Given the description of an element on the screen output the (x, y) to click on. 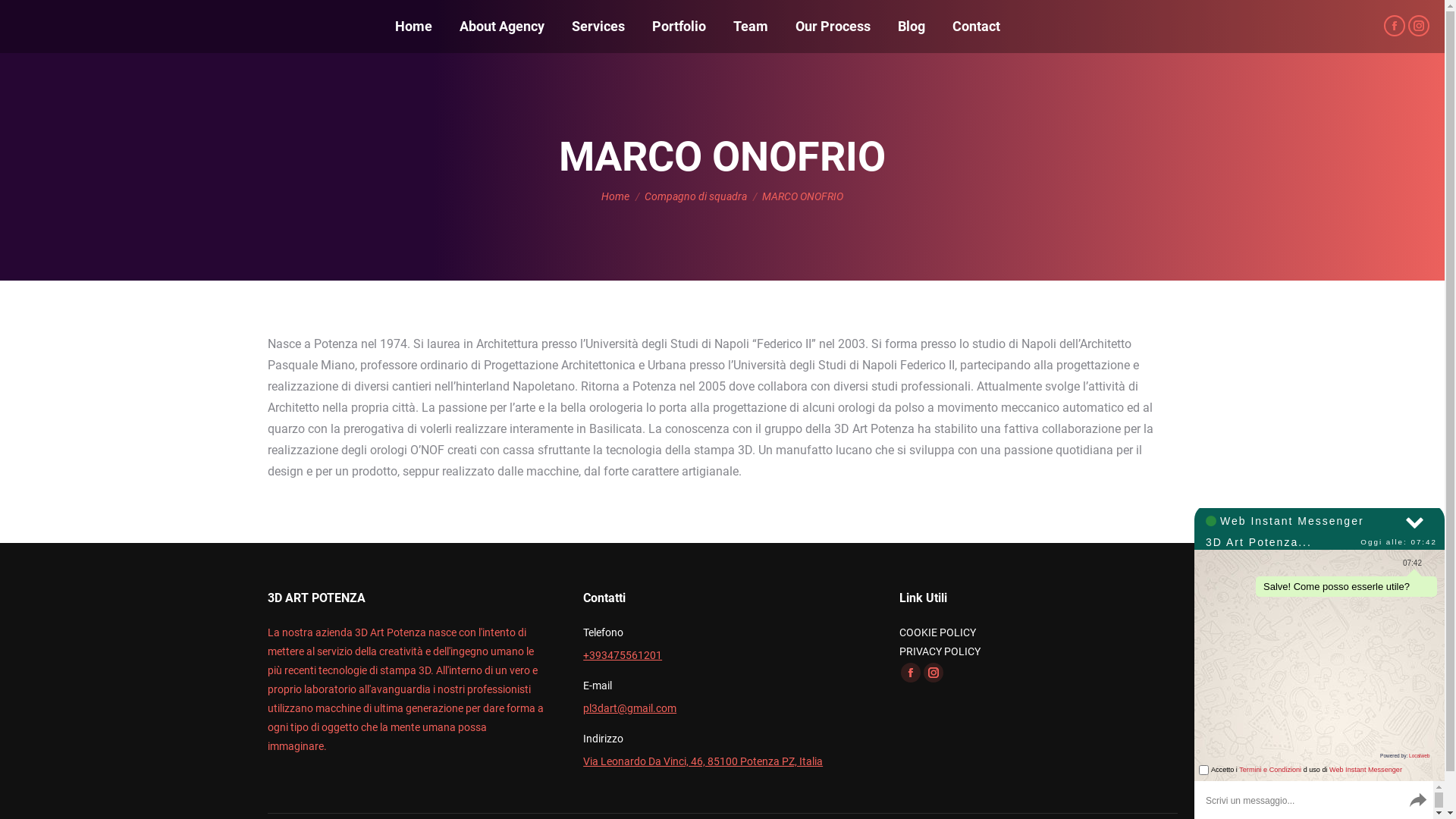
Home Element type: text (615, 195)
PRIVACY POLICY Element type: text (939, 651)
Compagno di squadra Element type: text (695, 195)
COOKIE POLICY Element type: text (937, 632)
Instagram page opens in new window Element type: text (933, 672)
Instagram page opens in new window Element type: text (1418, 25)
Contact Element type: text (976, 26)
Our Process Element type: text (832, 26)
Facebook page opens in new window Element type: text (910, 672)
Facebook page opens in new window Element type: text (1394, 25)
Portfolio Element type: text (679, 26)
Team Element type: text (750, 26)
pl3dart@gmail.com Element type: text (629, 708)
About Agency Element type: text (501, 26)
Via Leonardo Da Vinci, 46, 85100 Potenza PZ, Italia Element type: text (702, 761)
Services Element type: text (597, 26)
+393475561201 Element type: text (622, 655)
Home Element type: text (413, 26)
Blog Element type: text (911, 26)
